Given the description of an element on the screen output the (x, y) to click on. 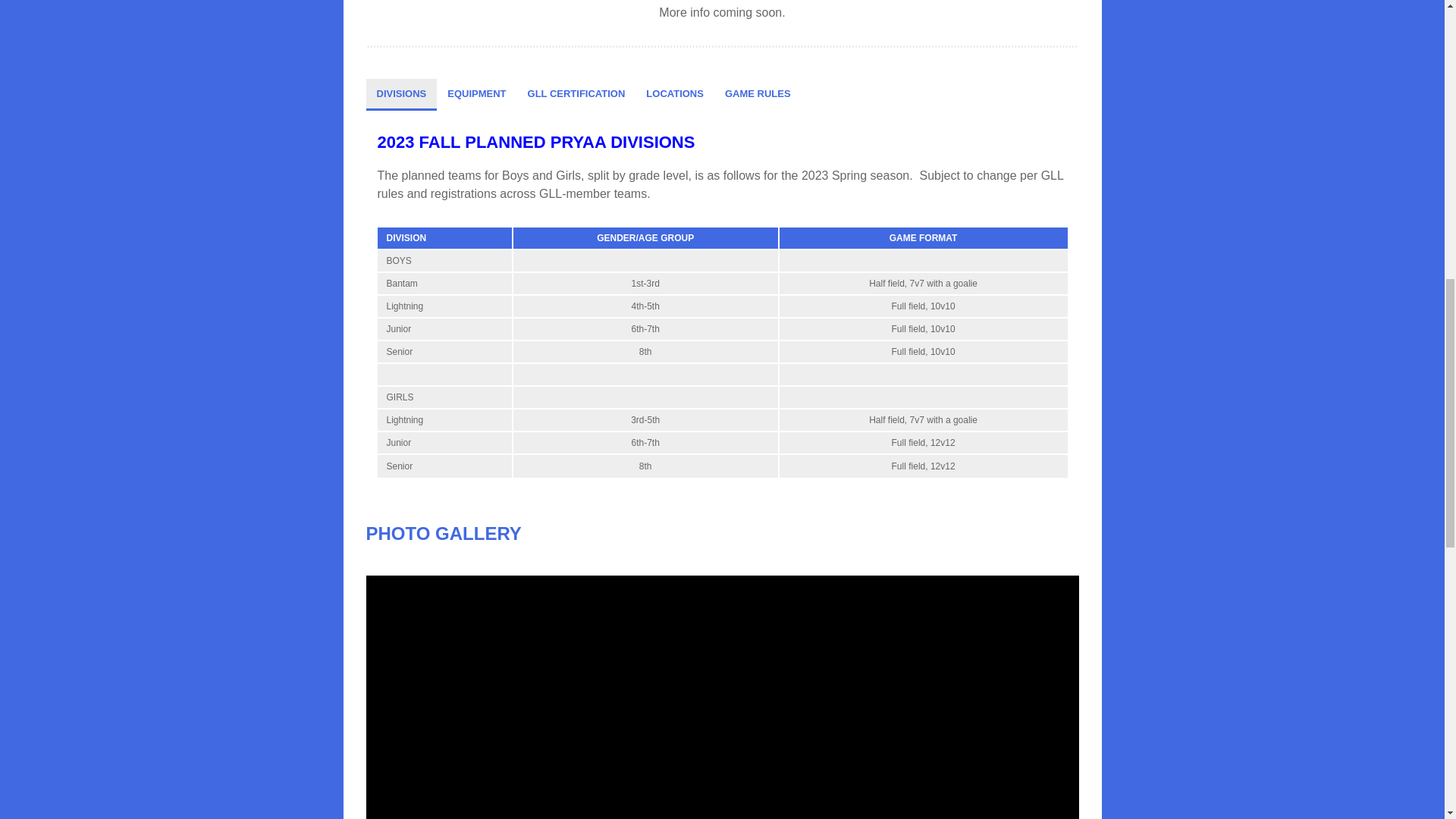
GAME RULES (758, 93)
LOCATIONS (674, 93)
GLL CERTIFICATION (576, 93)
DIVISIONS (400, 93)
EQUIPMENT (476, 93)
